Given the description of an element on the screen output the (x, y) to click on. 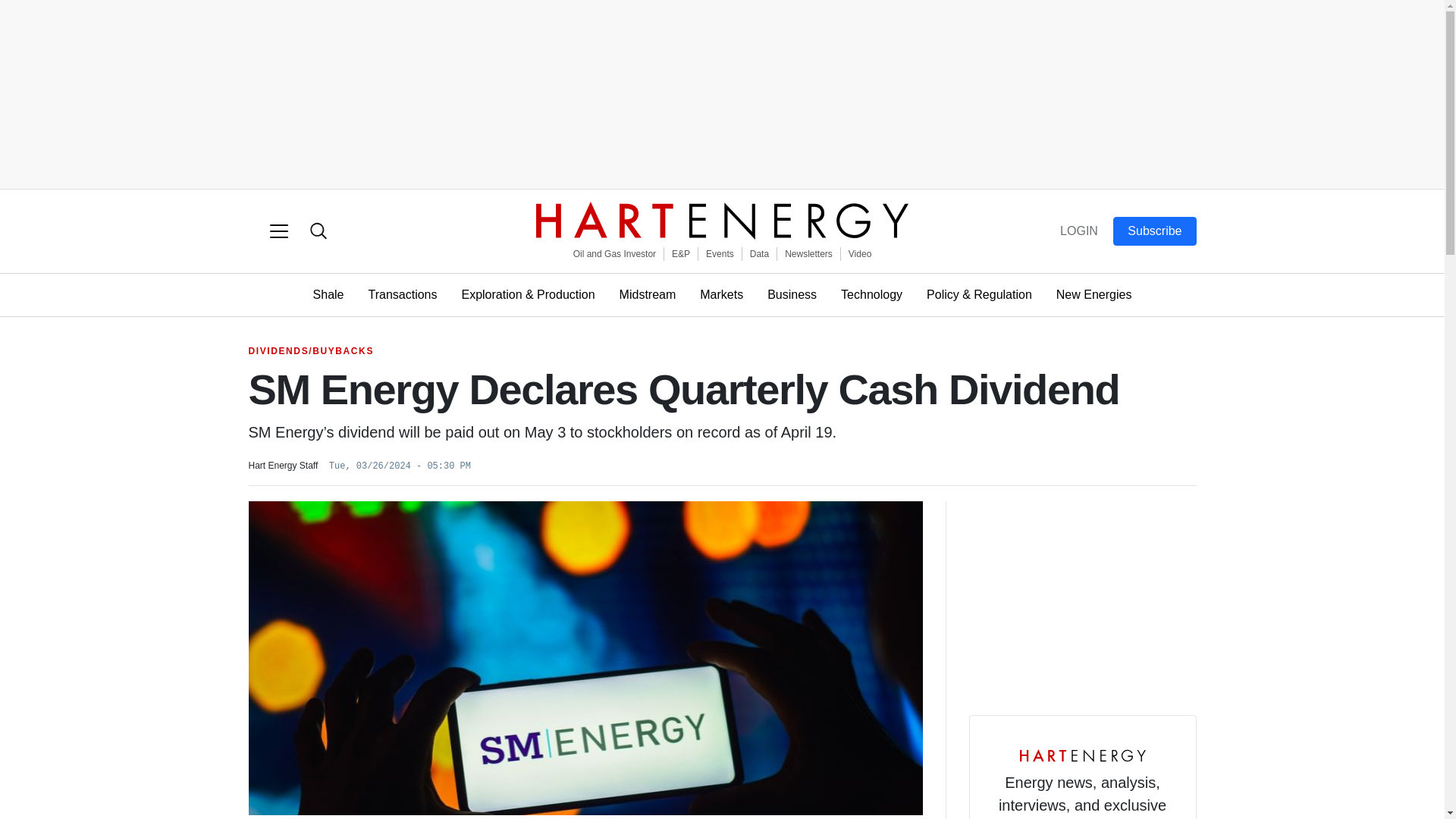
Search Our Site (317, 230)
Hart Energy (722, 220)
